Given the description of an element on the screen output the (x, y) to click on. 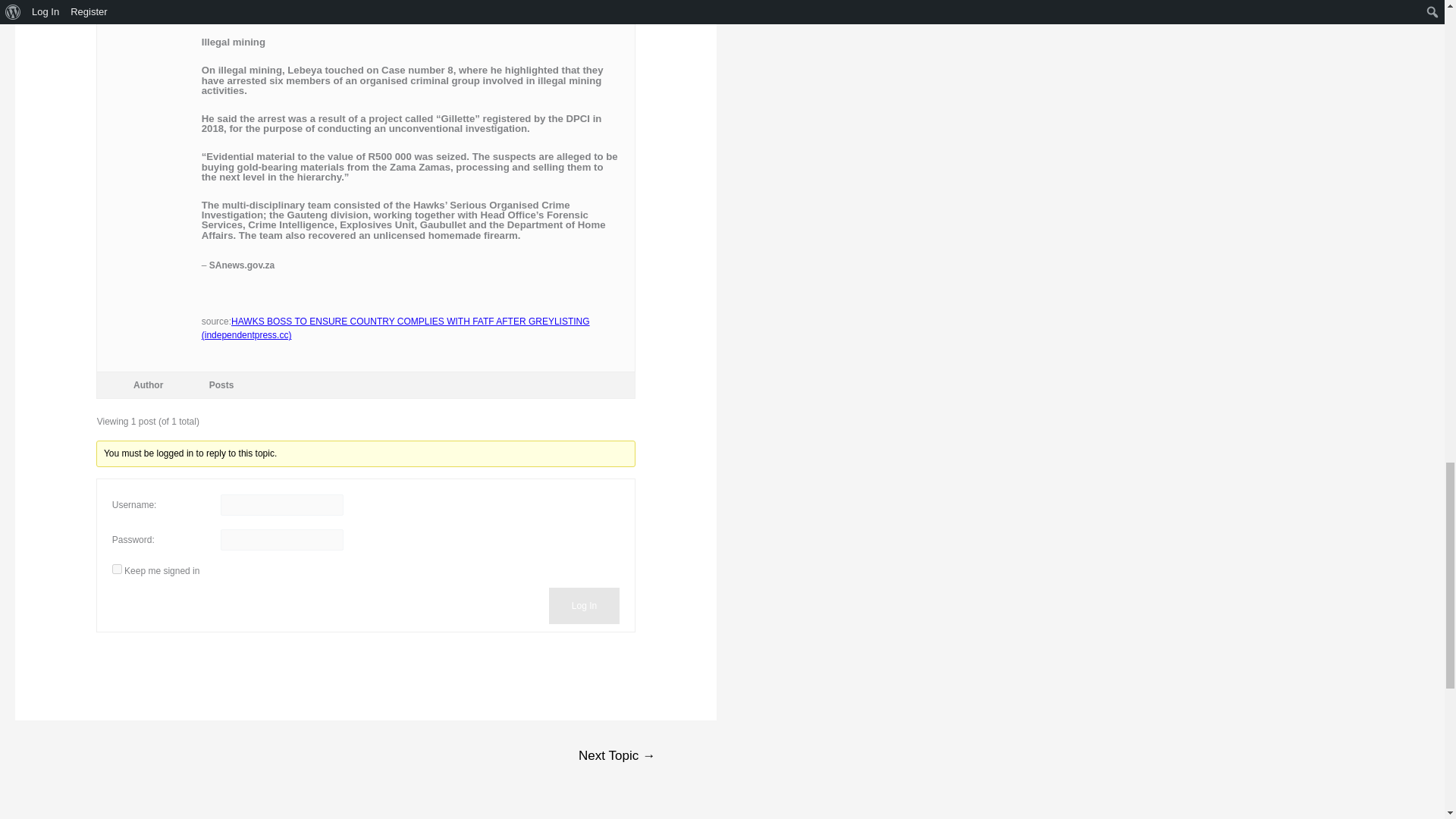
forever (117, 569)
